Given the description of an element on the screen output the (x, y) to click on. 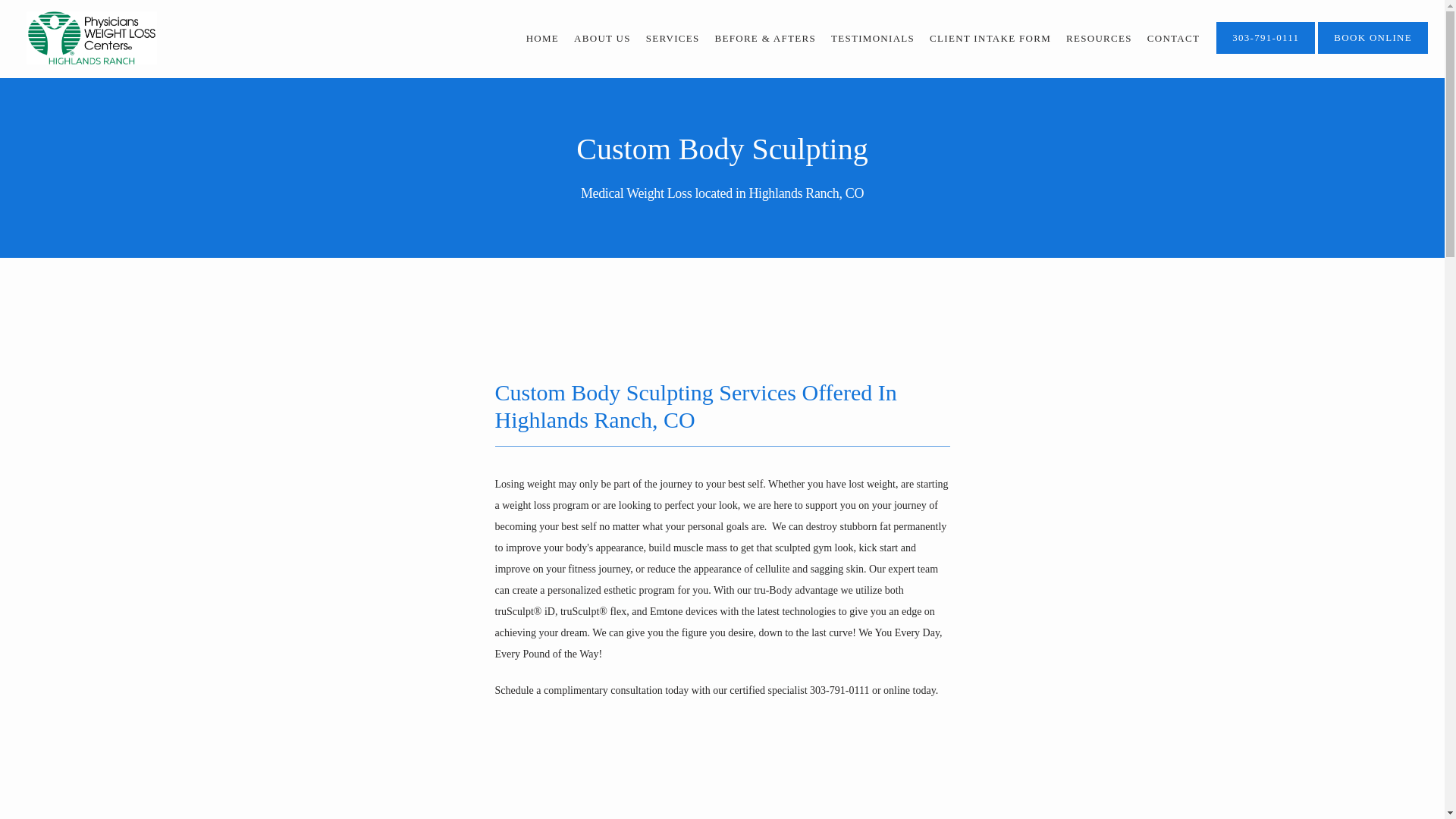
BOOK ONLINE (1372, 51)
HOME (542, 38)
ABOUT US (601, 38)
SERVICES (673, 38)
303-791-0111 (1265, 51)
TESTIMONIALS (872, 38)
CONTACT (1173, 38)
CLIENT INTAKE FORM (990, 38)
